Given the description of an element on the screen output the (x, y) to click on. 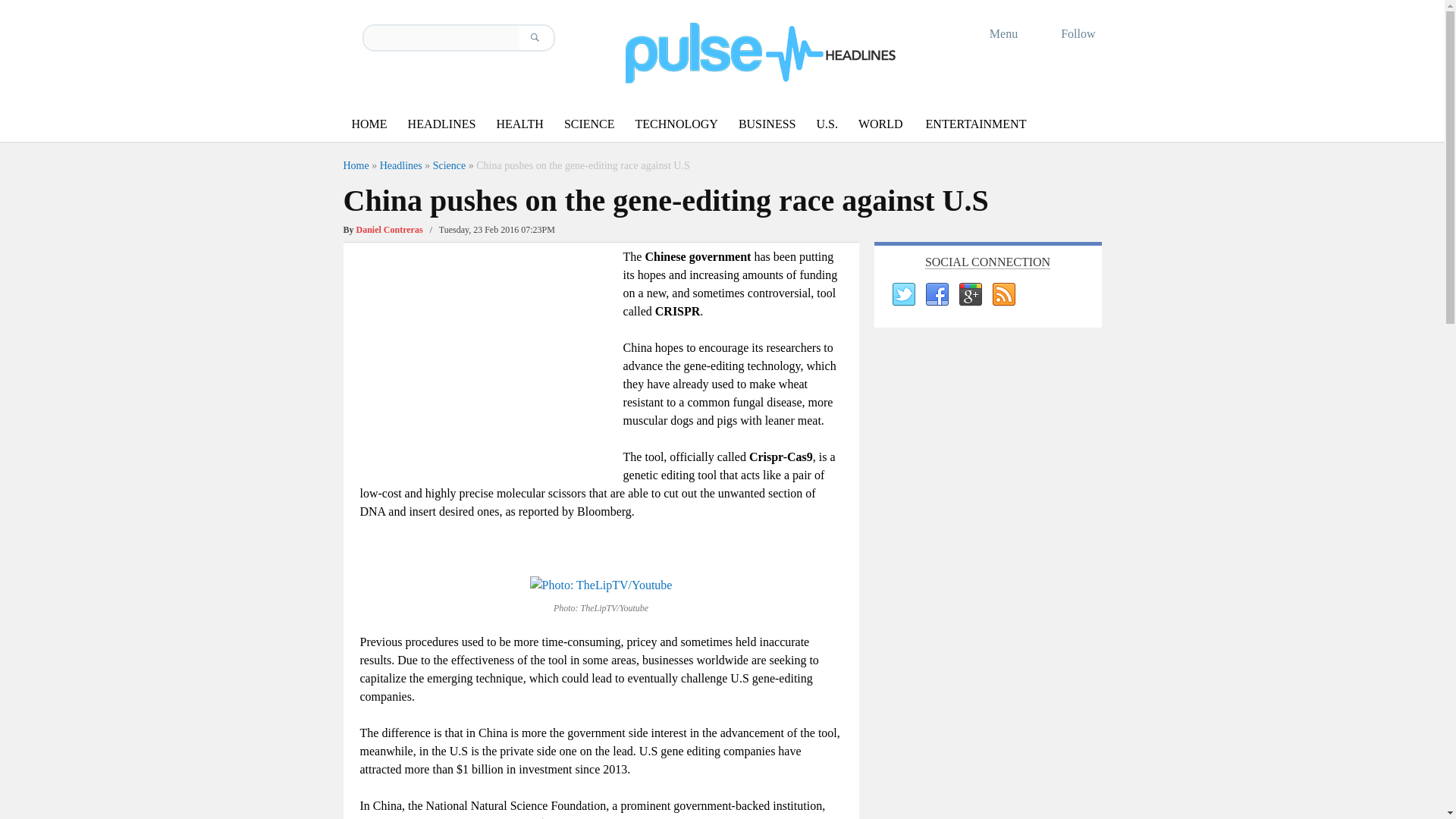
Twitter (901, 294)
Home (355, 165)
Advertisement (486, 354)
Headlines (401, 165)
U.S. (826, 123)
ENTERTAINMENT (975, 123)
Facebook (935, 294)
TECHNOLOGY (676, 123)
HEALTH (519, 123)
Daniel Contreras (389, 229)
